Given the description of an element on the screen output the (x, y) to click on. 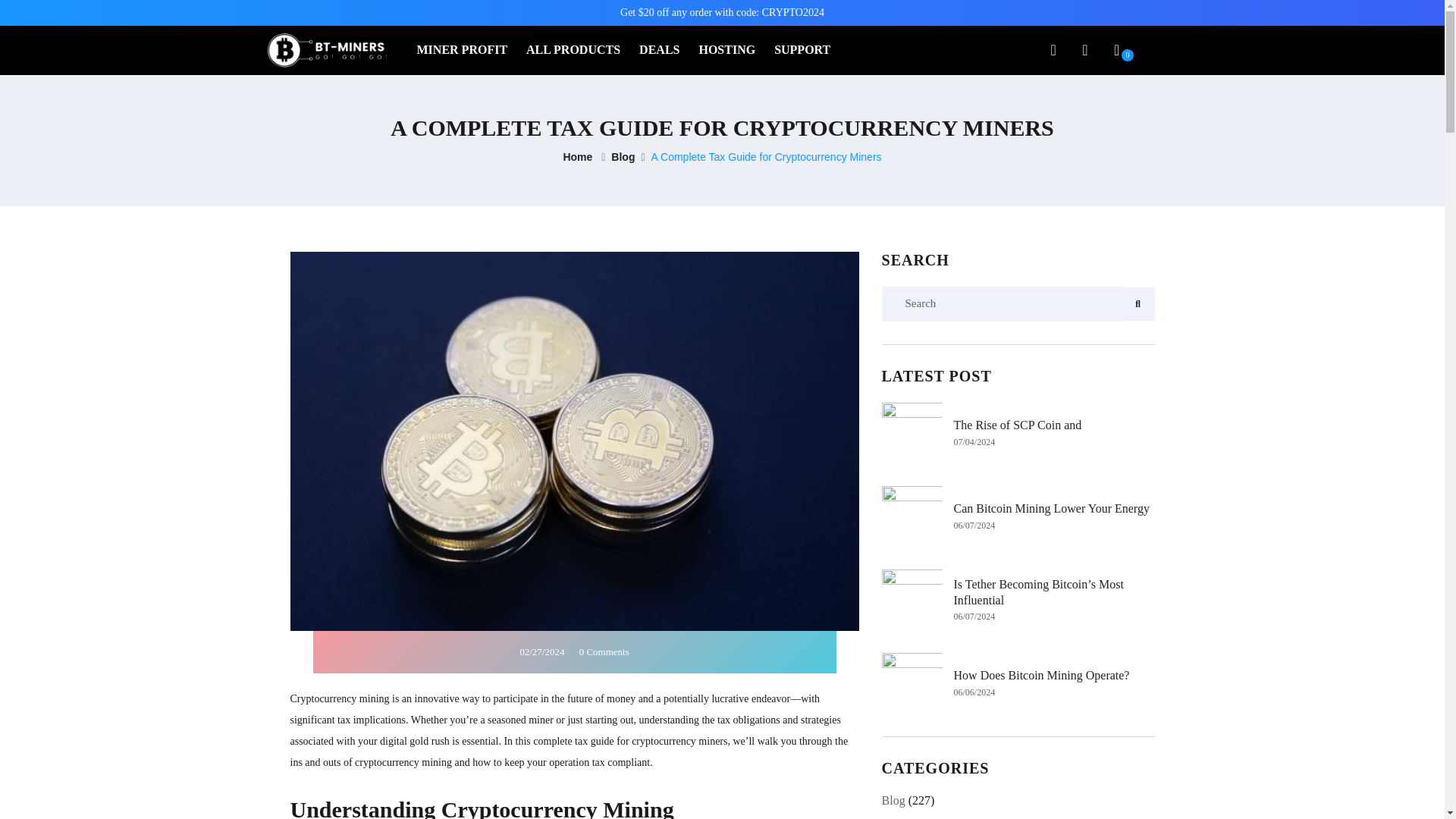
LOGO-WHITE (325, 50)
View your shopping cart (1116, 49)
Sign in (1084, 52)
